Given the description of an element on the screen output the (x, y) to click on. 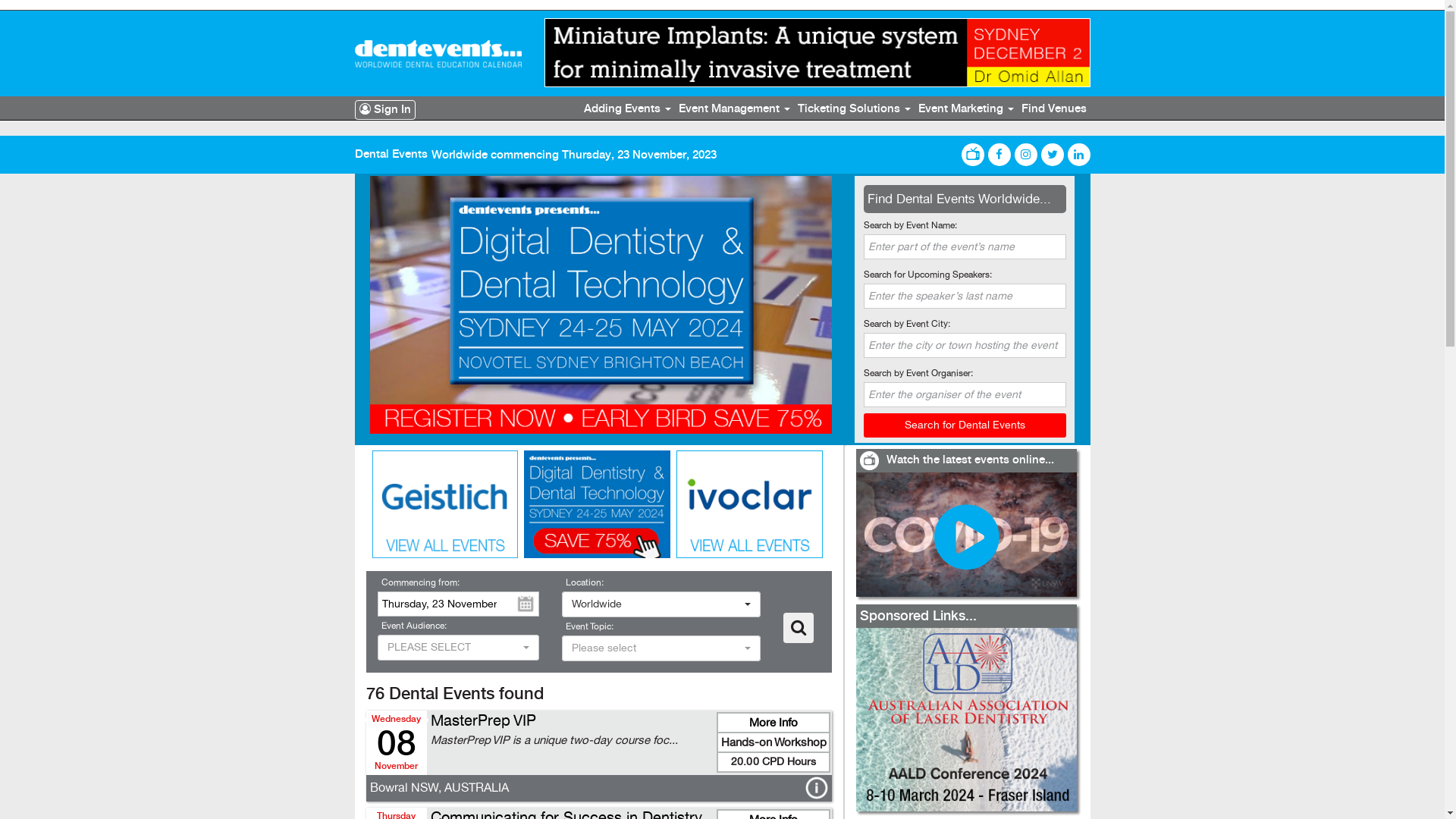
Event Marketing Element type: text (965, 109)
MasterPrep VIP Element type: text (483, 720)
DDDT24 - Rectangle Element type: hover (597, 504)
Search for Dental Events Element type: text (964, 425)
Find Venues Element type: text (1053, 109)
DDDT 2024 - Slider Element type: hover (601, 304)
Please select Element type: text (660, 648)
 Sign In Element type: text (384, 109)
AALD - LR Element type: hover (966, 719)
Ivoclar Vivadent Rectangle Element type: hover (749, 504)
PLEASE SELECT Element type: text (458, 647)
More Info Element type: text (773, 722)
Event Management Element type: text (733, 109)
Mini Implants - LB Element type: hover (817, 52)
Worldwide Element type: text (660, 604)
Geistlich Rectangle Element type: hover (445, 504)
Adding Events Element type: text (626, 109)
Ticketing Solutions Element type: text (853, 109)
